Given the description of an element on the screen output the (x, y) to click on. 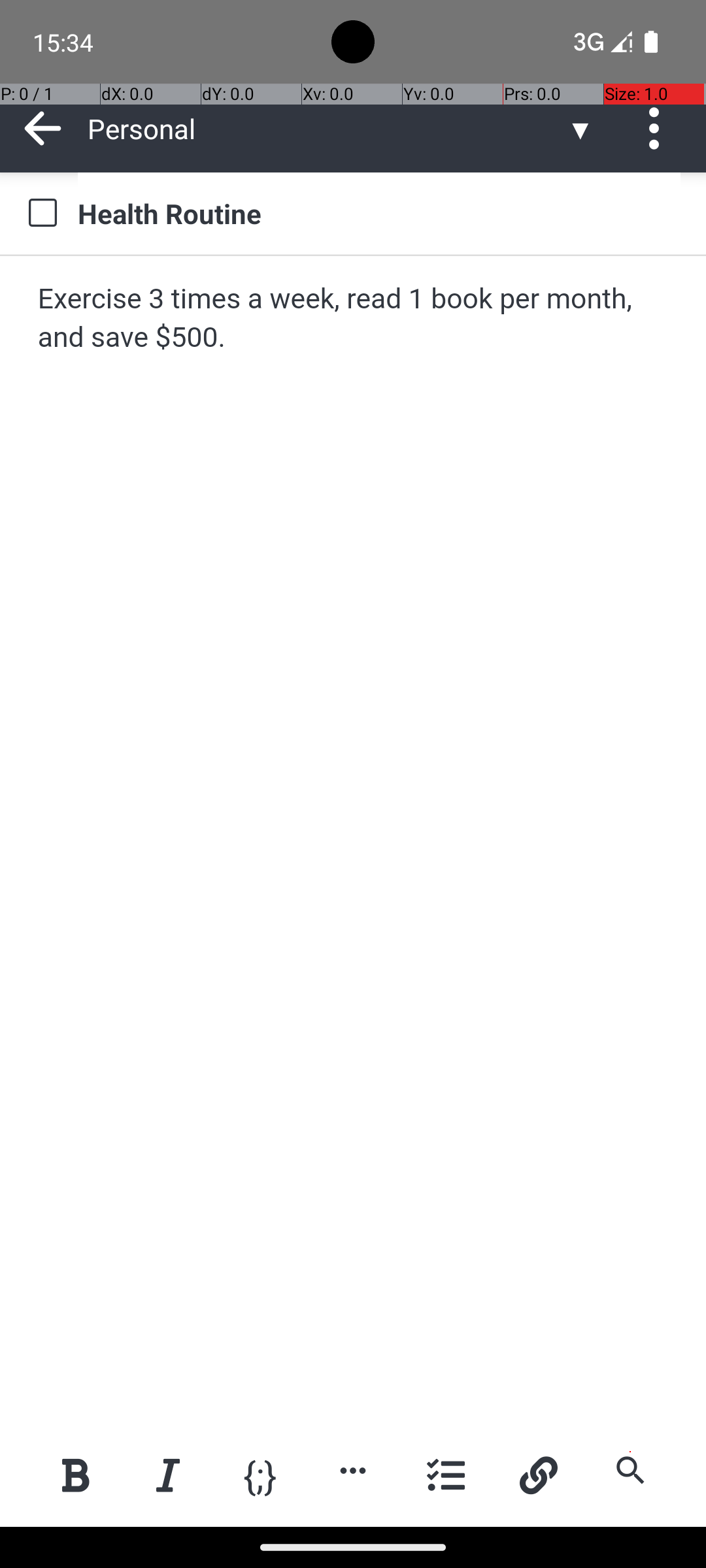
Health Routine Element type: android.widget.EditText (378, 213)
Personal Element type: android.widget.TextView (326, 128)
Exercise 3 times a week, read 1 book per month, and save $500. Element type: android.widget.EditText (354, 318)
